Given the description of an element on the screen output the (x, y) to click on. 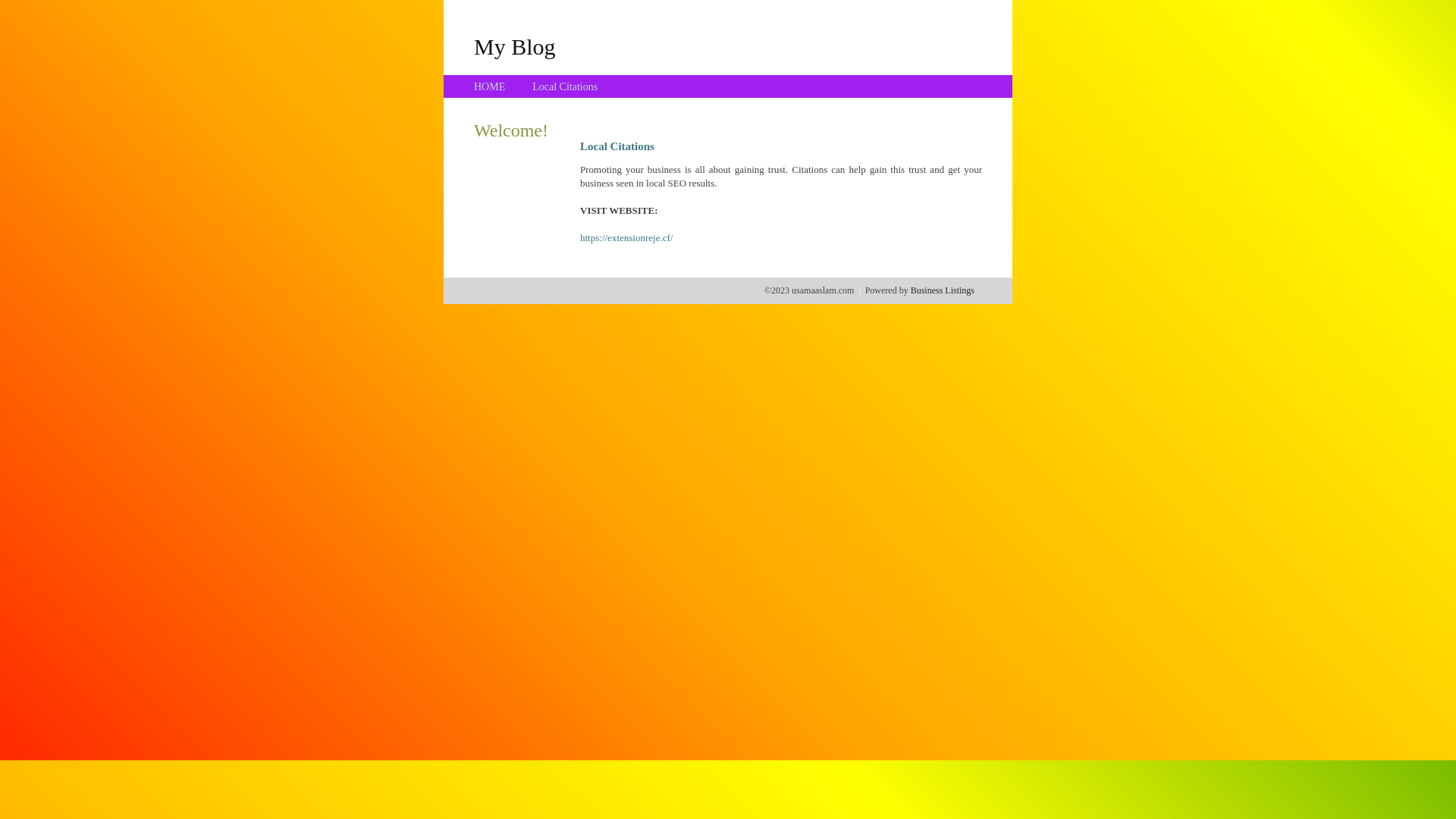
https://extensionreje.cf/ Element type: text (626, 237)
Local Citations Element type: text (564, 86)
My Blog Element type: text (514, 46)
Business Listings Element type: text (942, 290)
HOME Element type: text (489, 86)
